Given the description of an element on the screen output the (x, y) to click on. 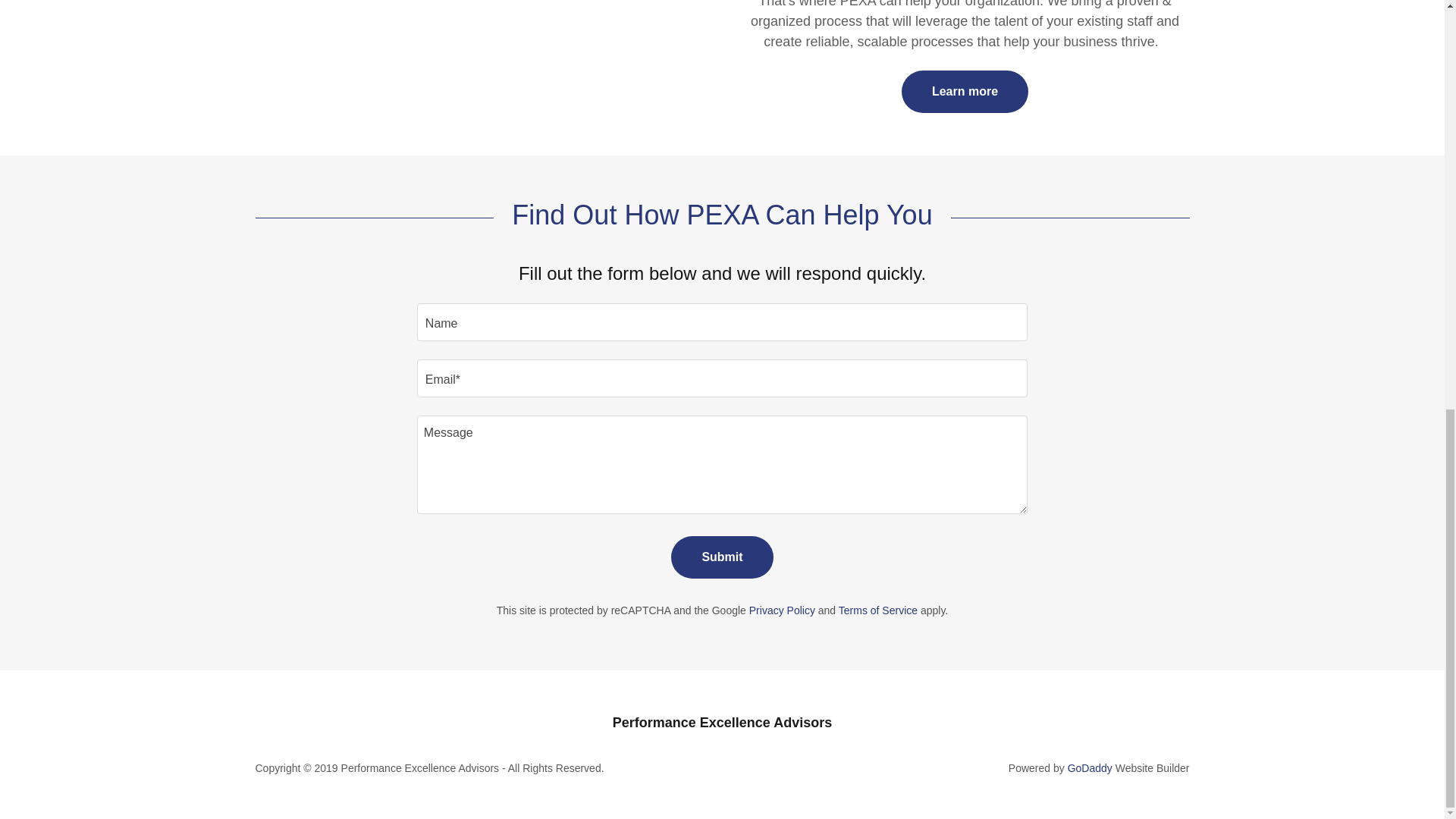
Learn more (964, 91)
Submit (722, 557)
Privacy Policy (782, 610)
Terms of Service (877, 610)
GoDaddy (1089, 767)
